Given the description of an element on the screen output the (x, y) to click on. 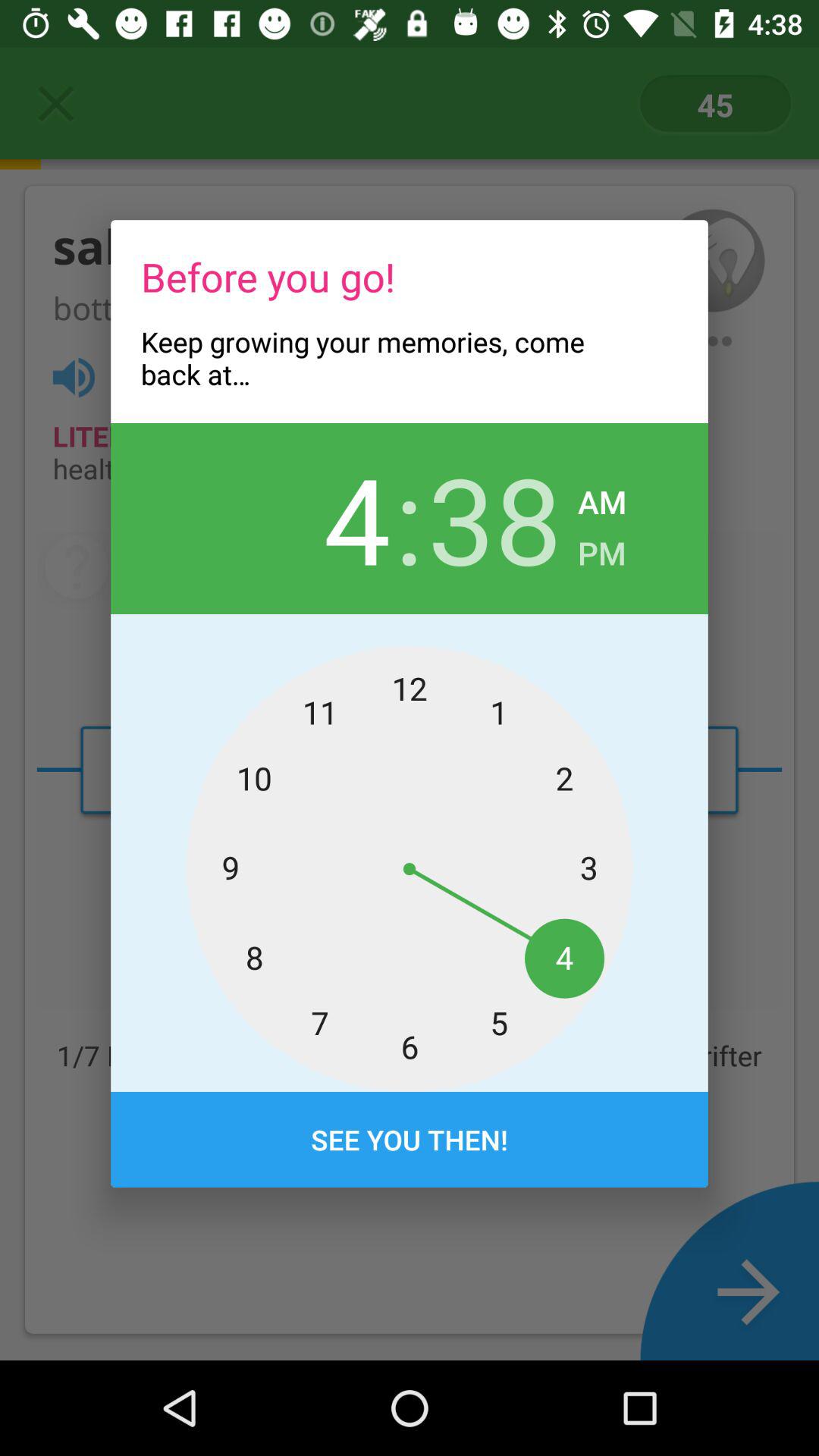
swipe to the 38 (494, 518)
